Given the description of an element on the screen output the (x, y) to click on. 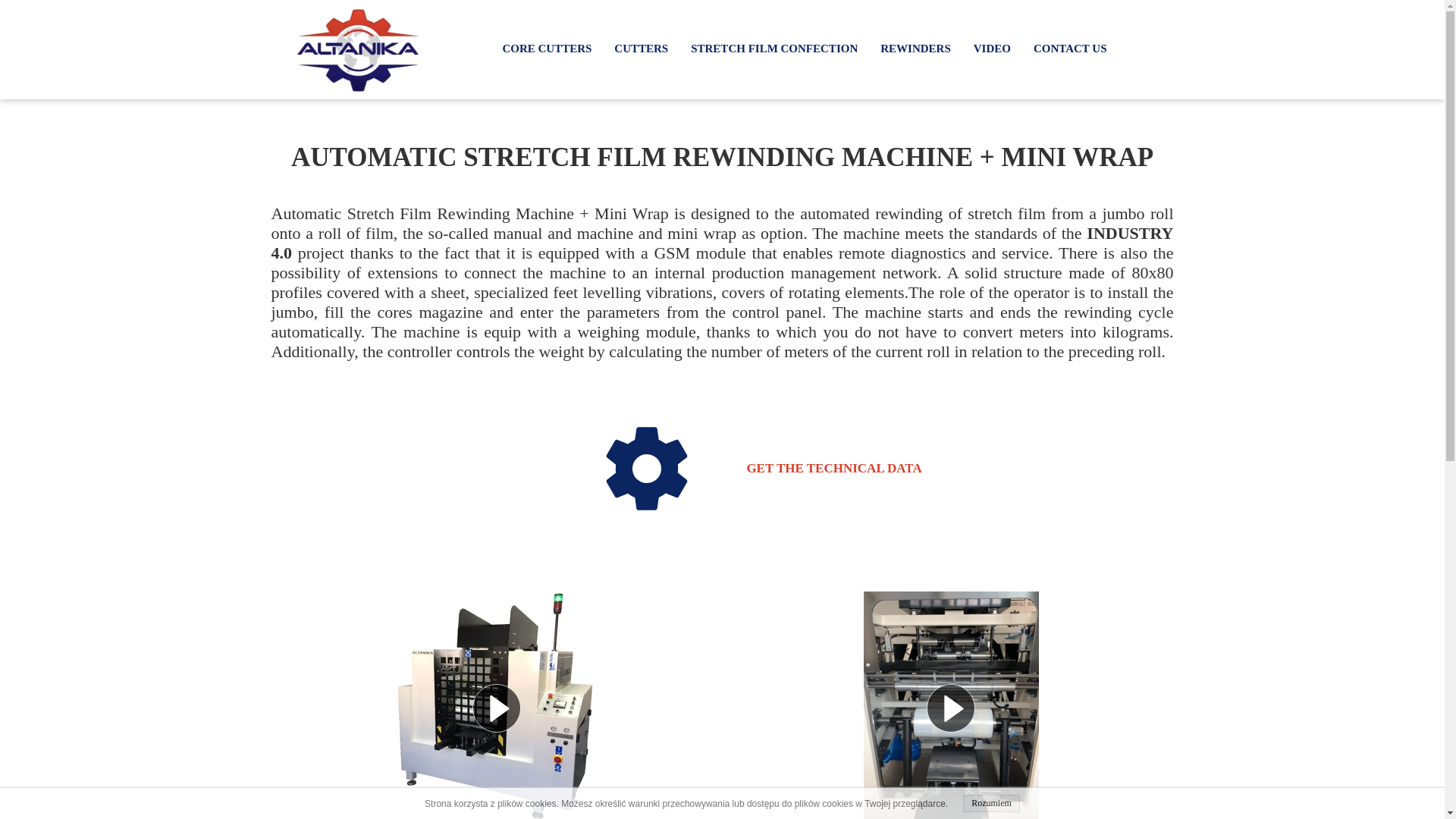
CUTTERS (641, 49)
CORE CUTTERS (546, 49)
REWINDERS (915, 49)
STRETCH FILM CONFECTION (773, 49)
CONTACT US (1070, 49)
Rozumiem (991, 803)
GET THE TECHNICAL DATA    (761, 468)
VIDEO (991, 49)
